Given the description of an element on the screen output the (x, y) to click on. 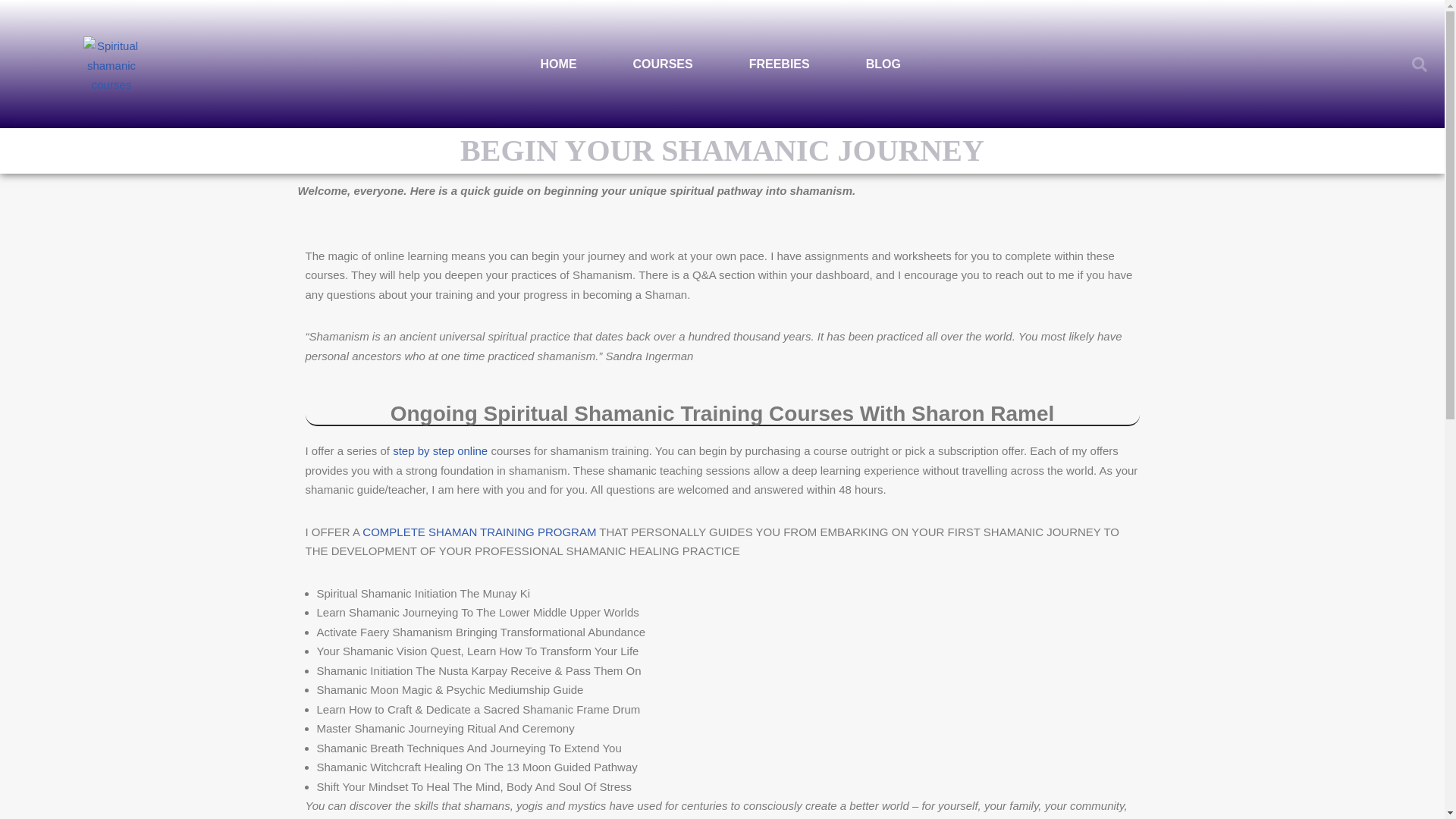
BLOG (883, 63)
Discover Shamanism (779, 63)
Home (558, 63)
Spiritual Sharon Ramel (110, 63)
HOME (558, 63)
Courses (663, 63)
Skip to content (11, 31)
COURSES (663, 63)
FREEBIES (779, 63)
